Given the description of an element on the screen output the (x, y) to click on. 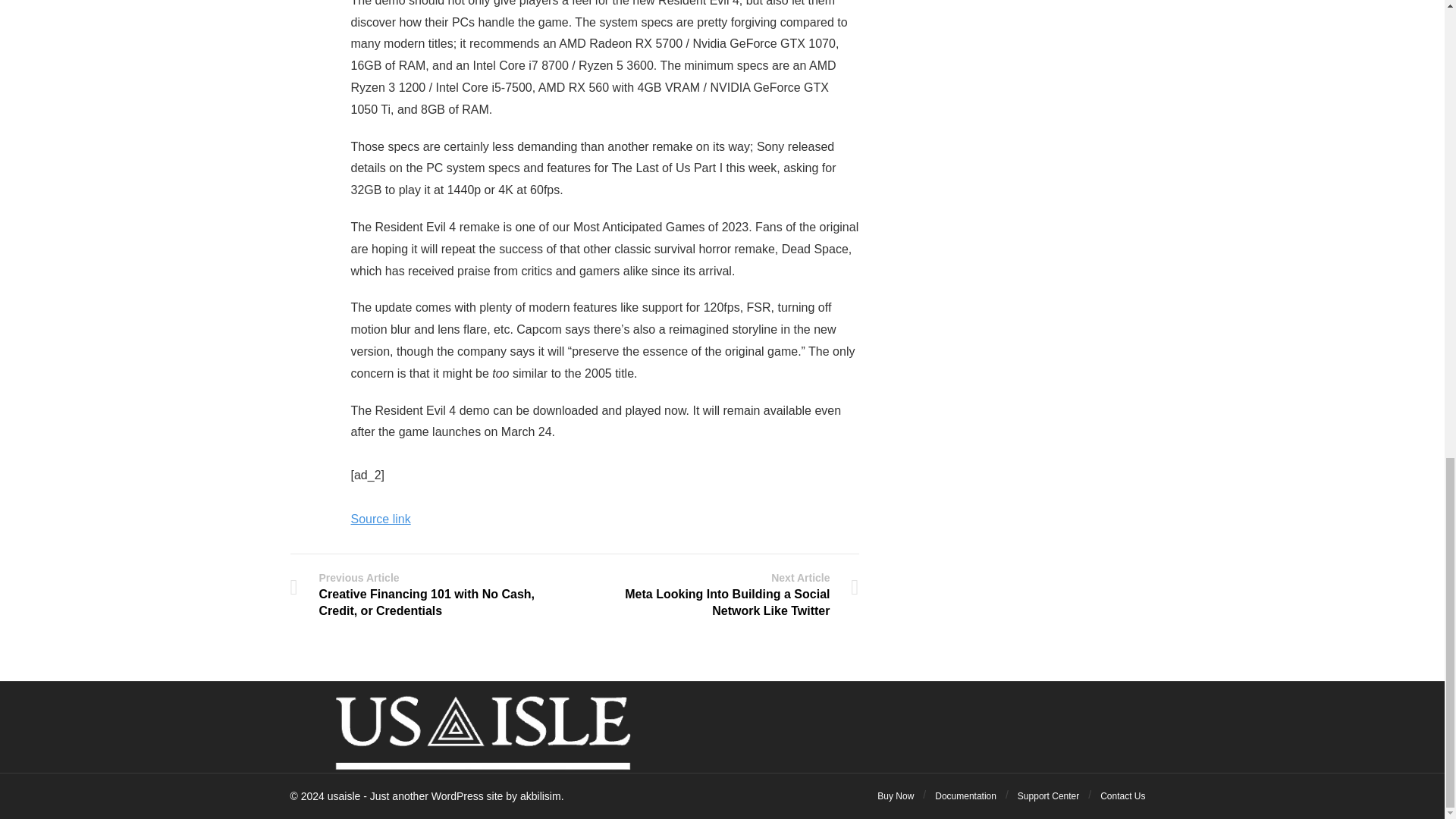
Source link (380, 518)
Buy Now (895, 796)
Just another WordPress site (344, 796)
Support Center (1047, 796)
usaisle (344, 796)
akbilisim (539, 796)
akbilisim (539, 796)
Contact Us (1122, 796)
Documentation (964, 796)
